Given the description of an element on the screen output the (x, y) to click on. 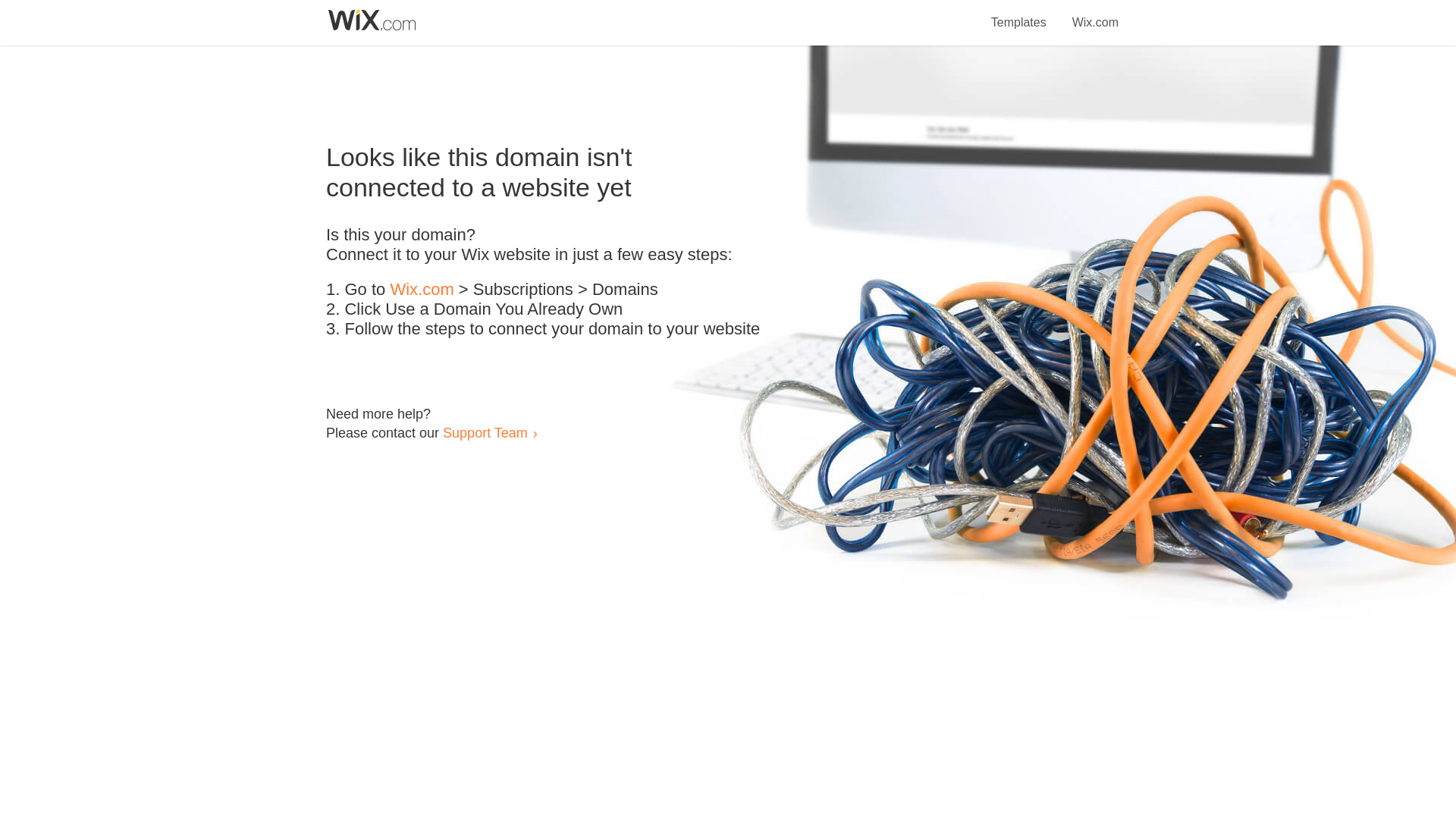
Wix.com (1095, 14)
Templates (1018, 14)
Wix.com (421, 289)
Support Team (484, 432)
